Given the description of an element on the screen output the (x, y) to click on. 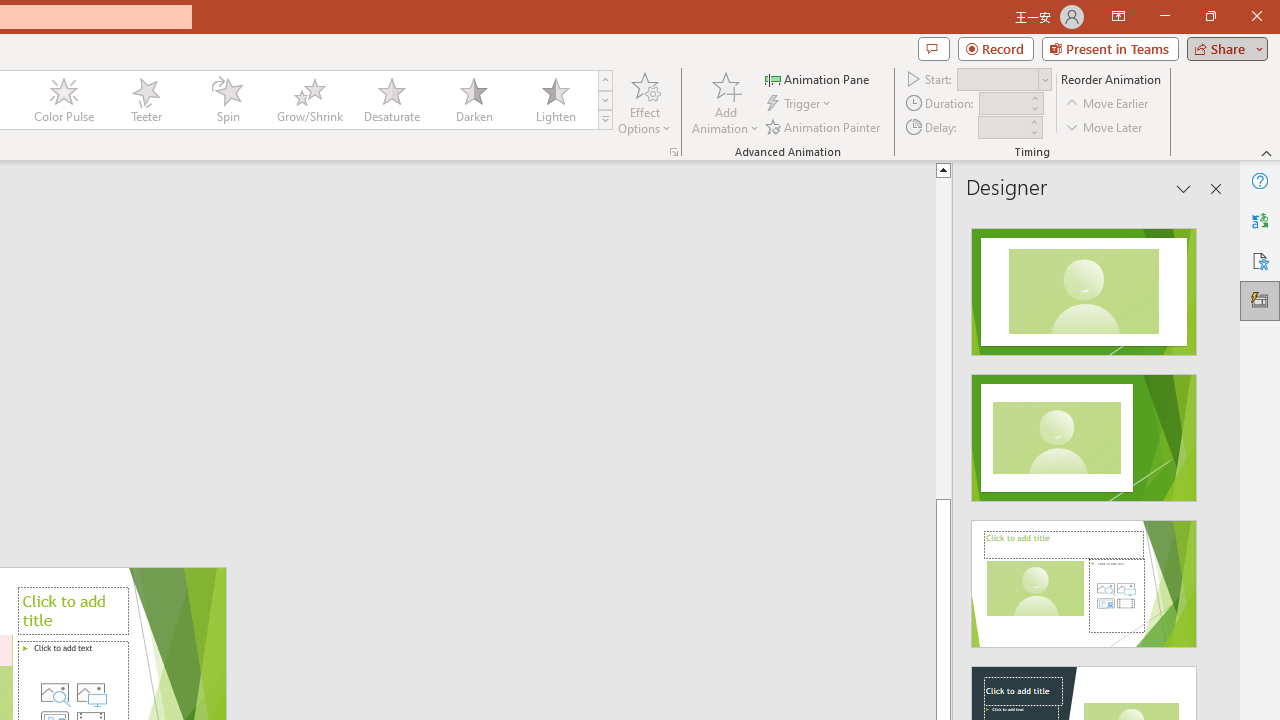
Animation Painter (824, 126)
Animation Styles (605, 120)
